Given the description of an element on the screen output the (x, y) to click on. 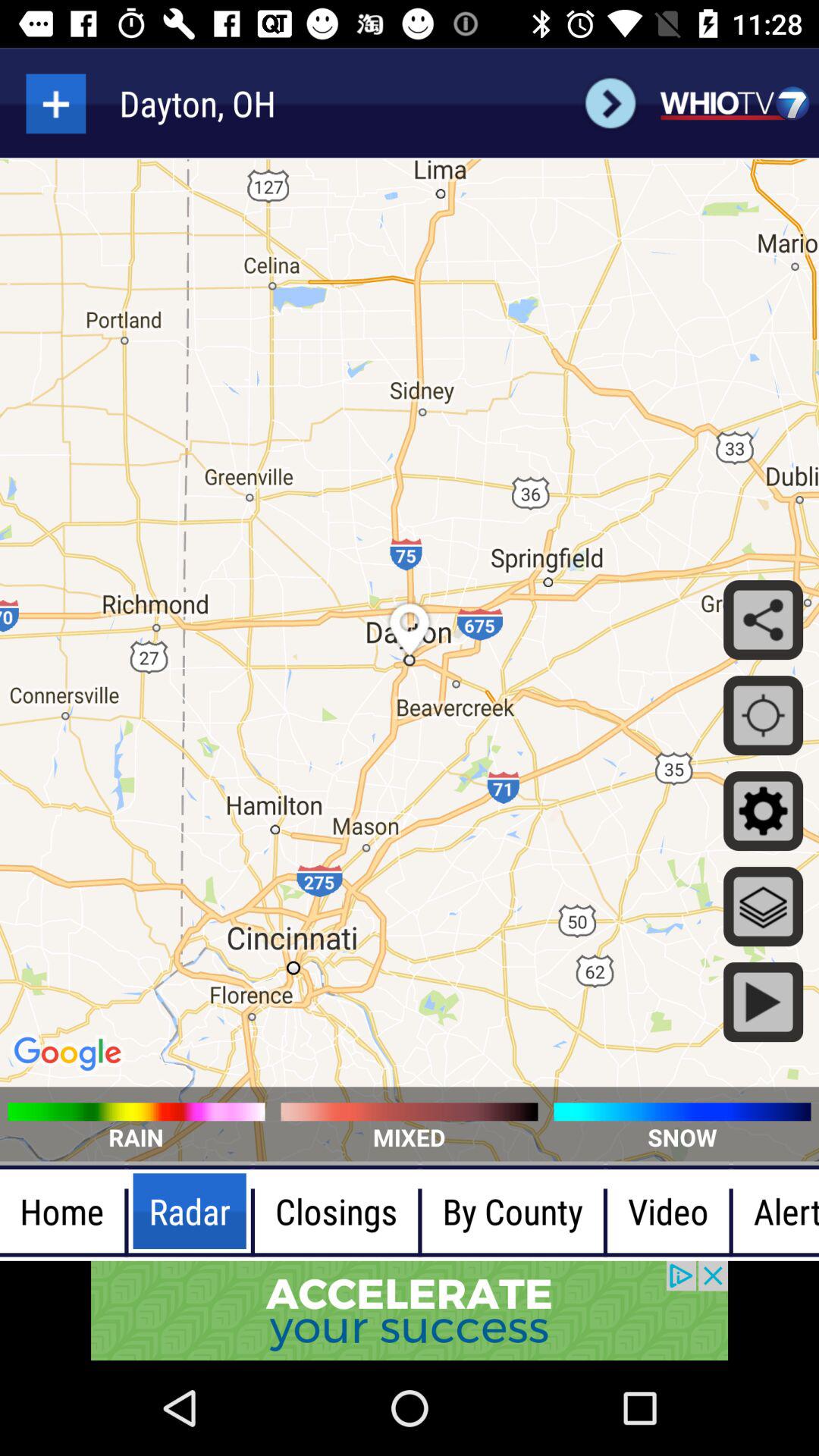
go to next (610, 103)
